Given the description of an element on the screen output the (x, y) to click on. 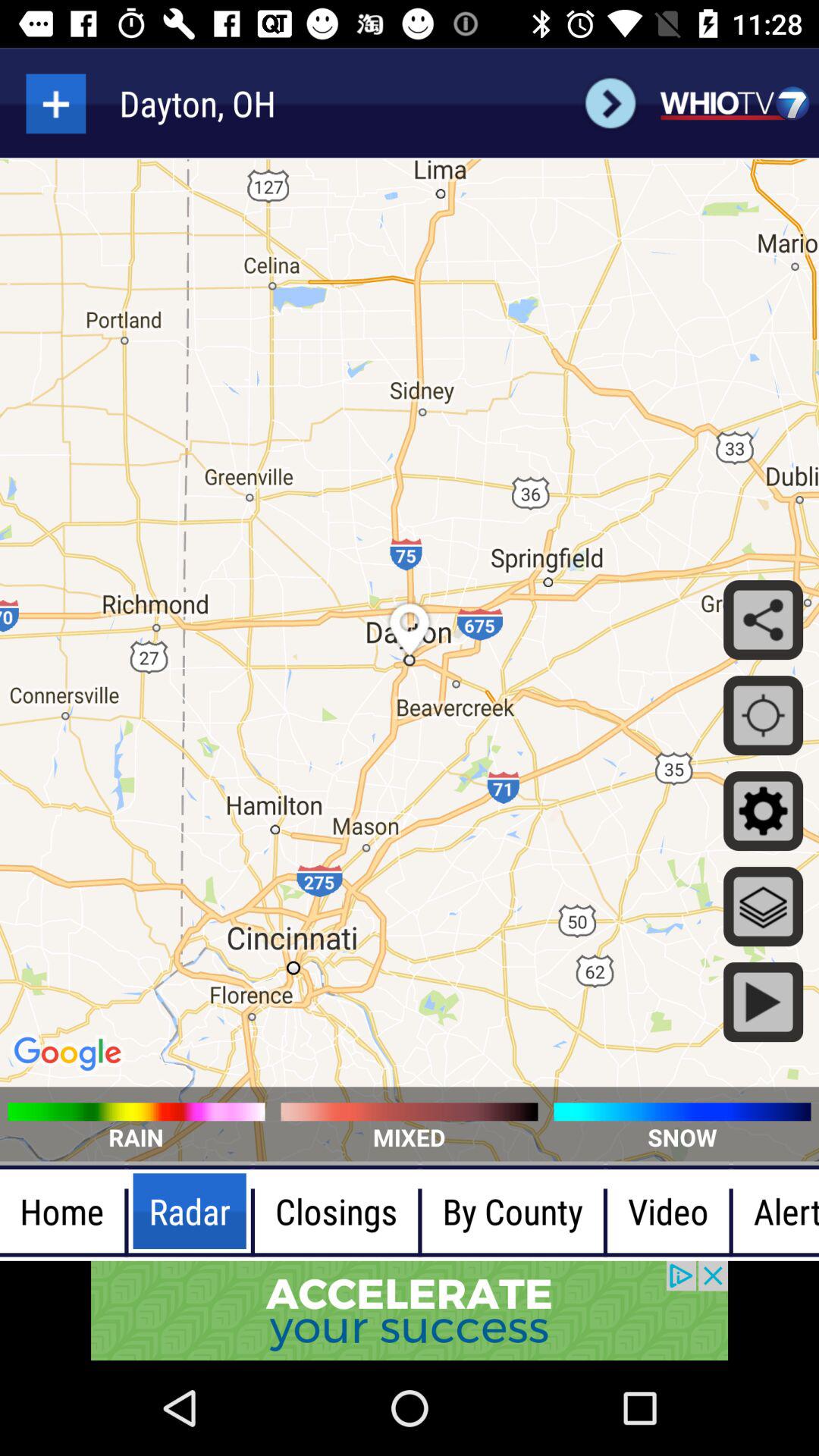
go to next (610, 103)
